Given the description of an element on the screen output the (x, y) to click on. 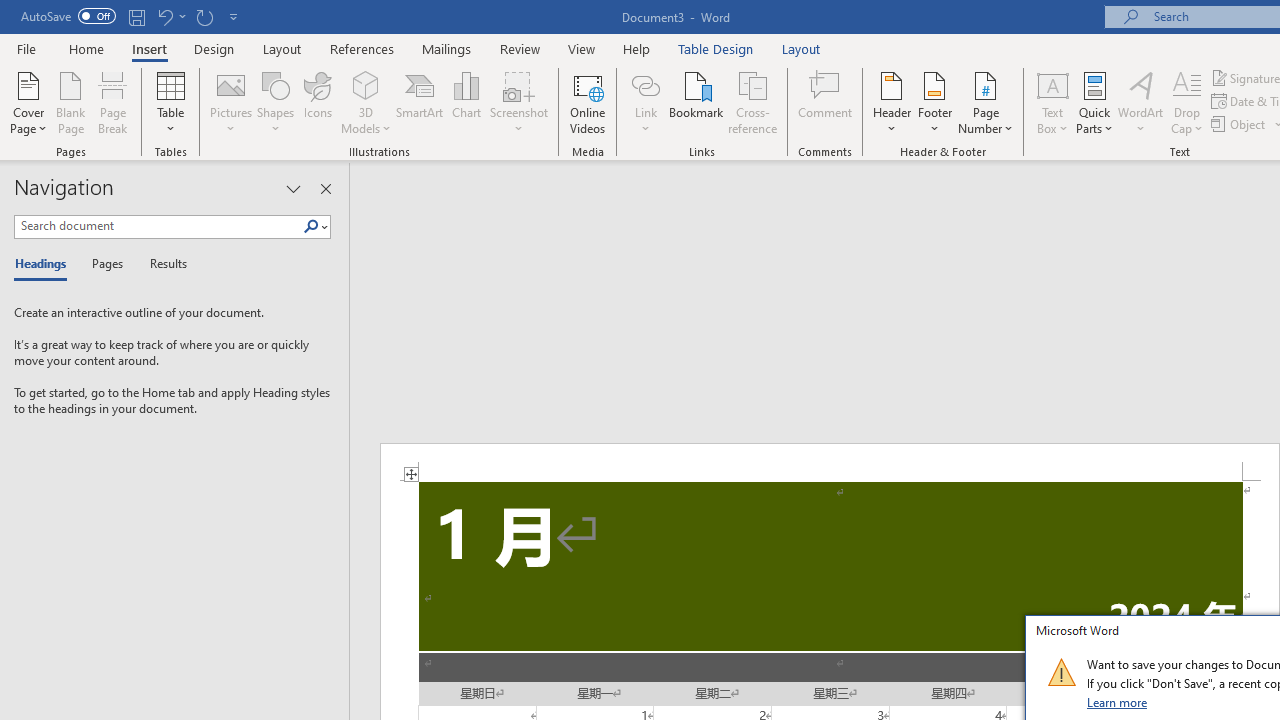
Quick Access Toolbar (131, 16)
References (362, 48)
File Tab (26, 48)
View (582, 48)
Search (311, 227)
Comment (825, 102)
Search document (157, 226)
Table Design (715, 48)
Drop Cap (1187, 102)
Save (136, 15)
WordArt (1141, 102)
Online Videos... (588, 102)
Header (891, 102)
Bookmark... (695, 102)
Undo Increase Indent (164, 15)
